Given the description of an element on the screen output the (x, y) to click on. 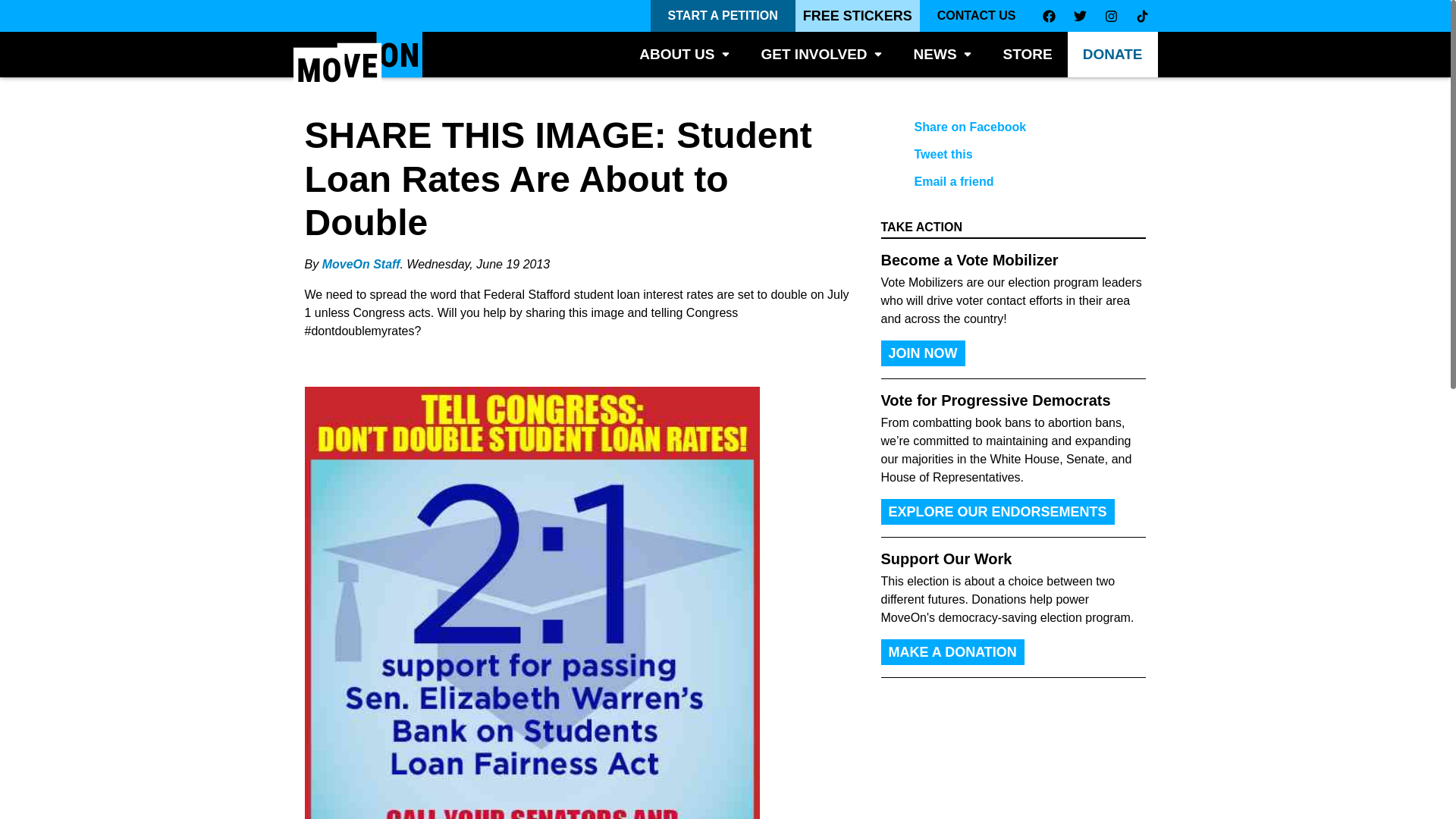
MAKE A DONATION (952, 652)
EXPLORE OUR ENDORSEMENTS (997, 511)
MoveOn Staff (360, 264)
Posts by MoveOn Staff (360, 264)
CONTACT US (976, 15)
Email a friend (1001, 181)
Share on Facebook (1001, 126)
FREE STICKERS (857, 15)
STORE (1027, 53)
START A PETITION (722, 15)
